Given the description of an element on the screen output the (x, y) to click on. 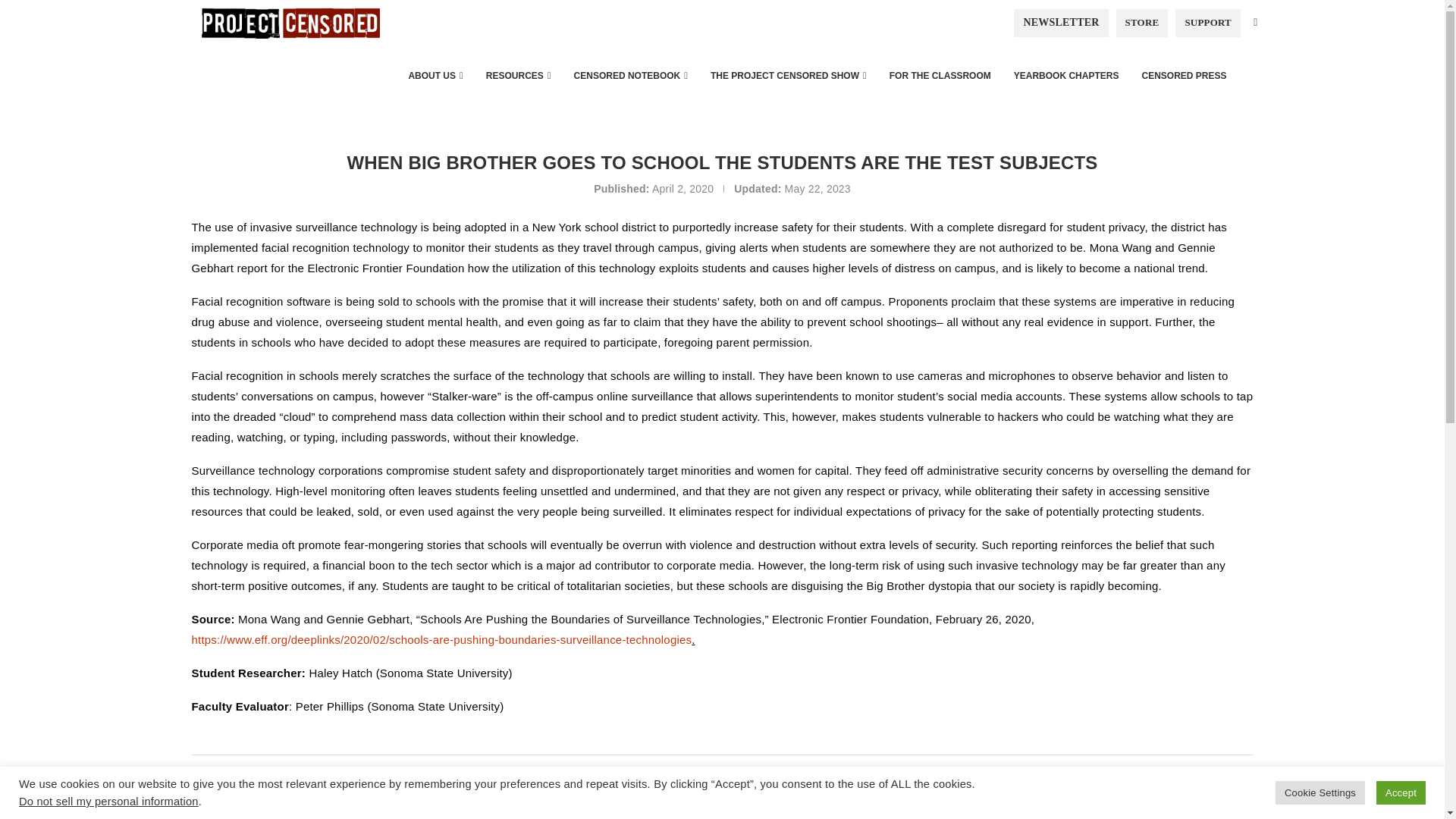
SUPPORT (1207, 22)
ABOUT US (435, 75)
RESOURCES (518, 75)
NEWSLETTER (1060, 22)
STORE (1142, 22)
